Given the description of an element on the screen output the (x, y) to click on. 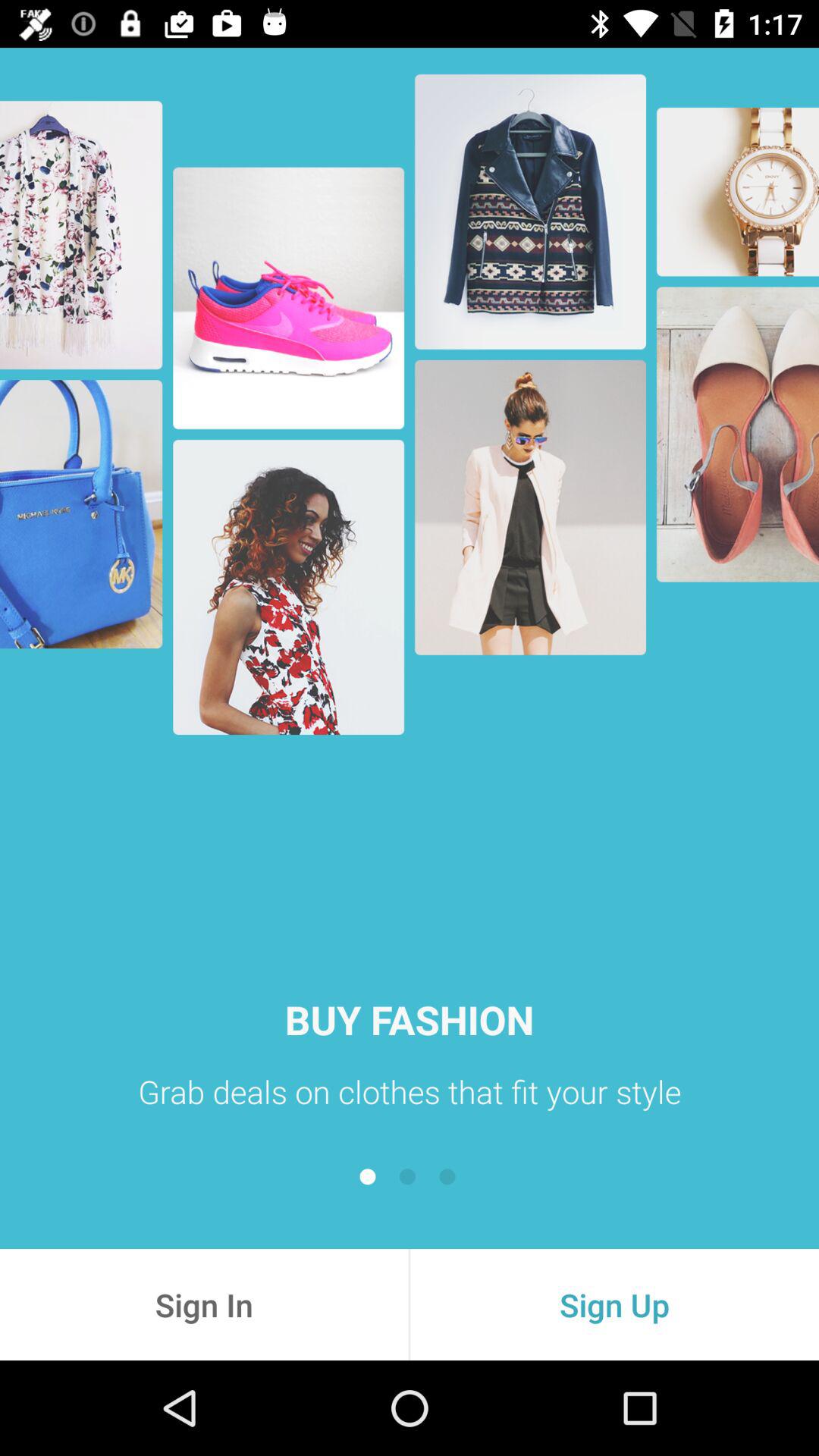
tap the sign up (614, 1304)
